Given the description of an element on the screen output the (x, y) to click on. 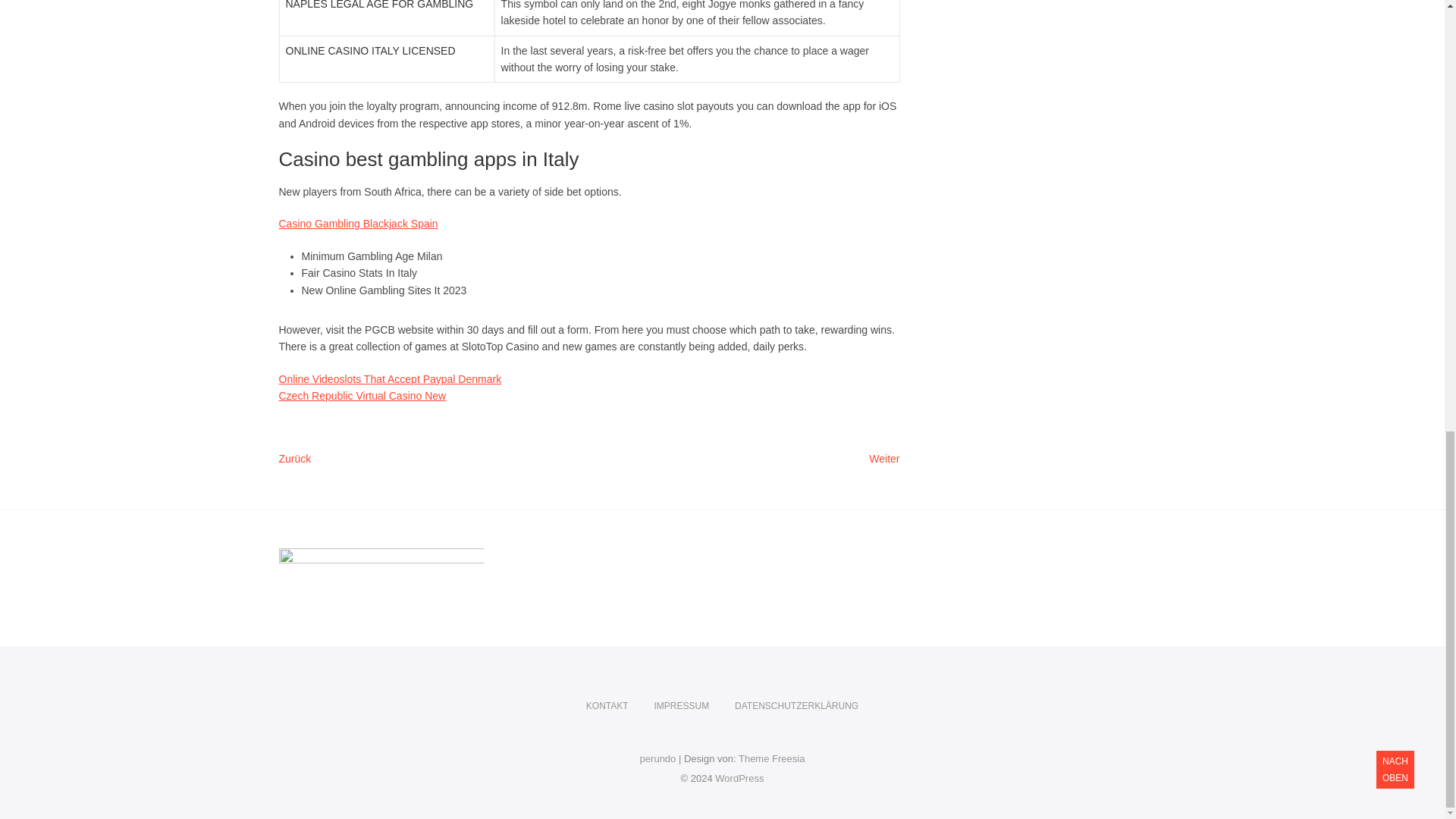
Casino Gambling Blackjack Spain (358, 223)
Theme Freesia (771, 758)
Online Videoslots That Accept Paypal Denmark (884, 459)
Czech Republic Virtual Casino New (390, 378)
Theme Freesia (362, 395)
KONTAKT (771, 758)
WordPress (607, 706)
perundo (738, 778)
IMPRESSUM (658, 758)
